Given the description of an element on the screen output the (x, y) to click on. 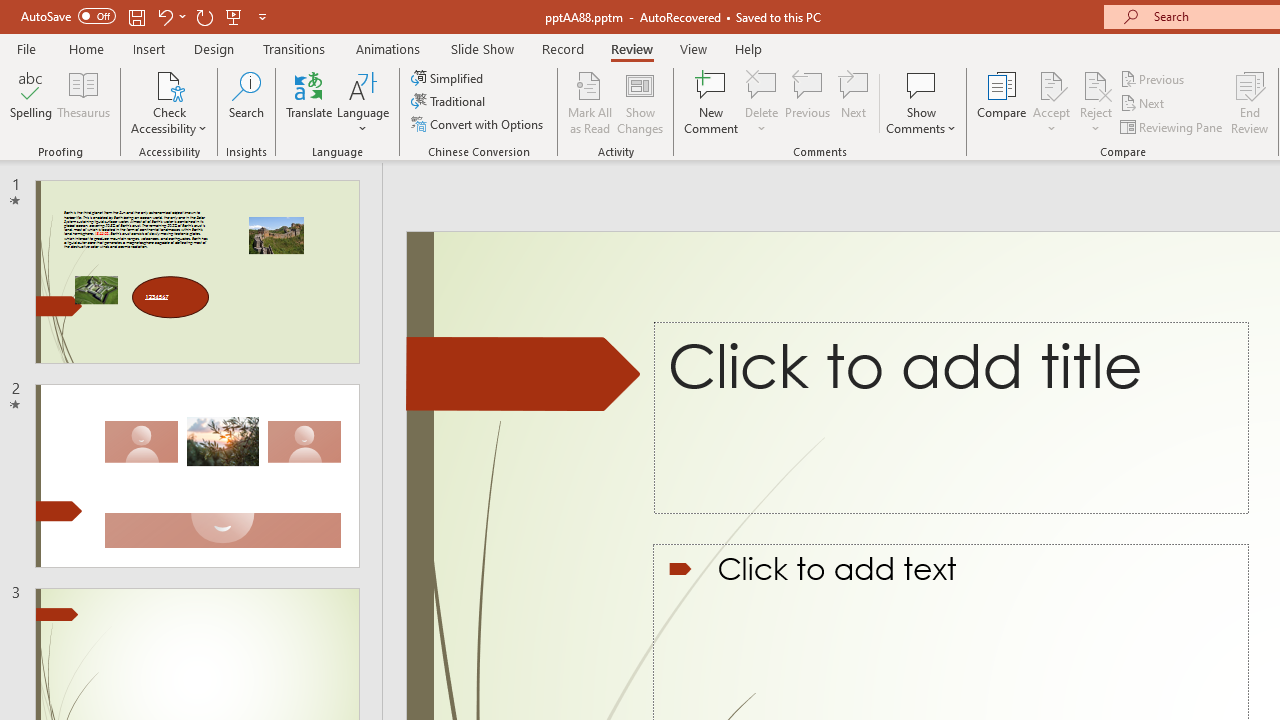
Language (363, 102)
Spelling... (31, 102)
Reviewing Pane (1172, 126)
Previous (1153, 78)
Traditional (449, 101)
Thesaurus... (83, 102)
Show Comments (921, 102)
Search (246, 102)
